Given the description of an element on the screen output the (x, y) to click on. 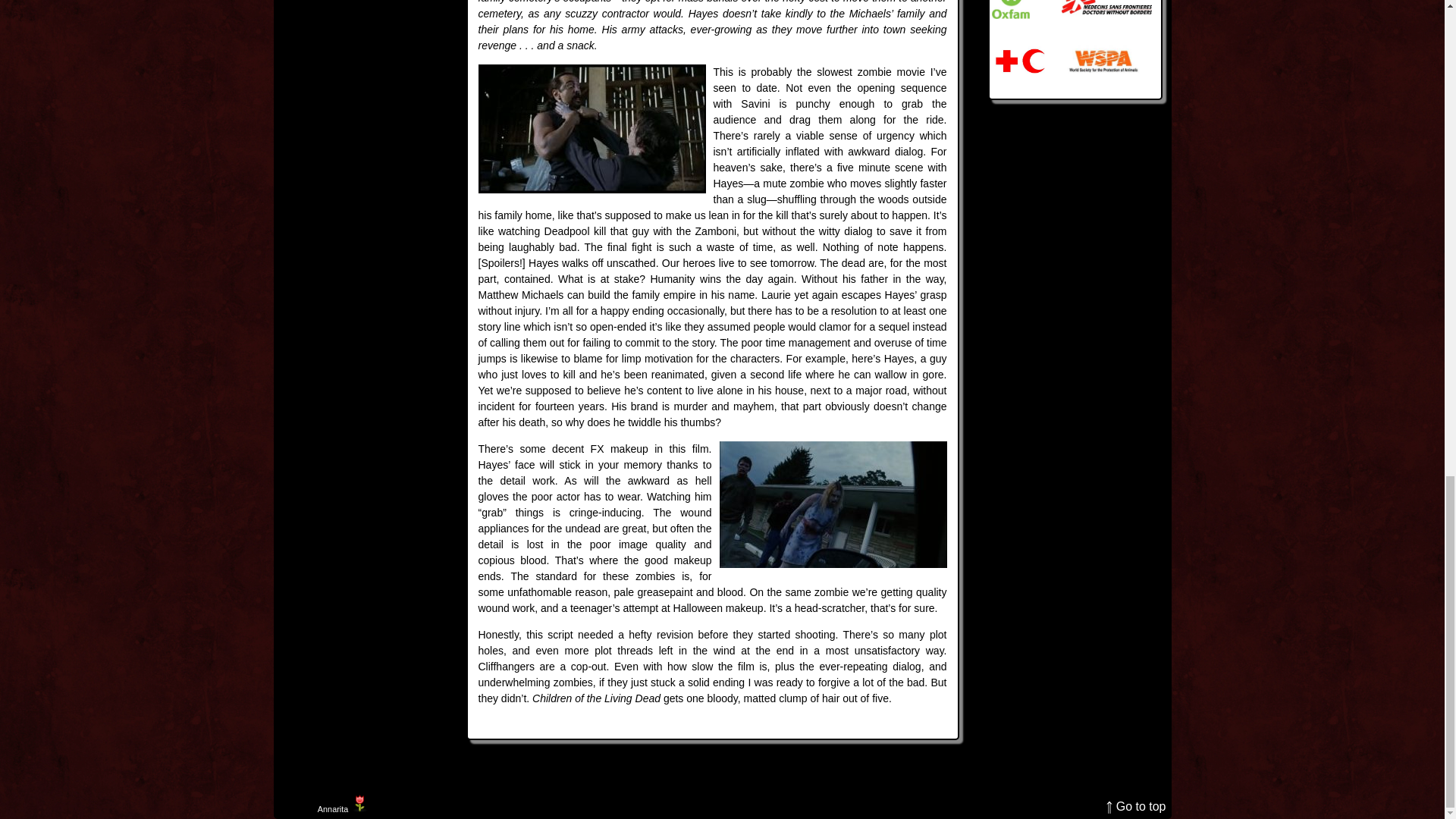
Medecins-Sans-Frontieres-Logo (1106, 9)
RedCrossRedCrescent (1019, 60)
Oxfam1 (1010, 9)
WSPA (1102, 60)
Template Annarita (332, 809)
Go to top (1136, 805)
